Given the description of an element on the screen output the (x, y) to click on. 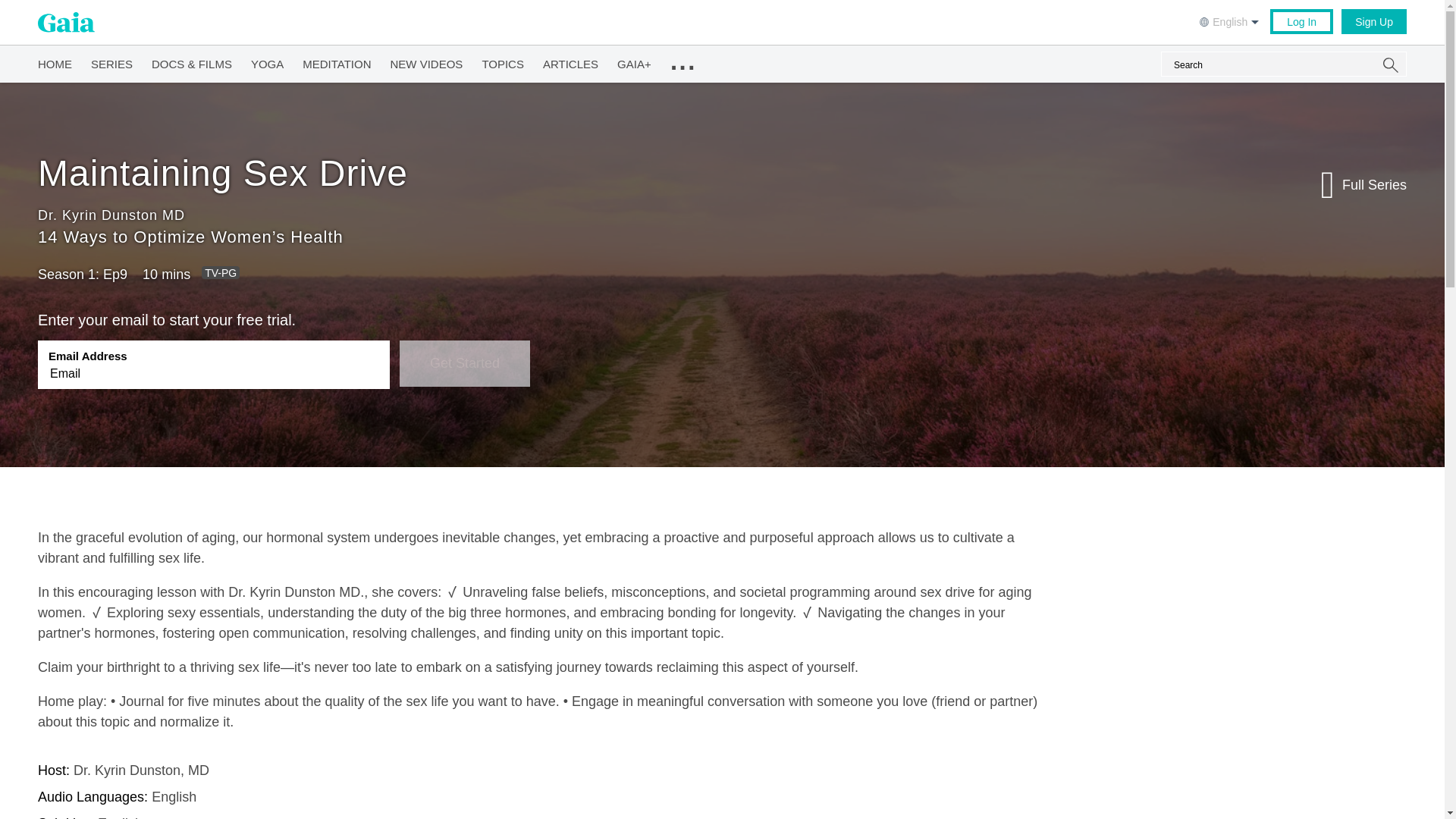
SERIES (111, 61)
YOGA (266, 61)
ARTICLES (570, 61)
English (1230, 20)
NEW VIDEOS (426, 61)
TOPICS (502, 61)
Sign Up (1373, 21)
MEDITATION (336, 61)
HOME (54, 61)
Log In (1301, 21)
